Given the description of an element on the screen output the (x, y) to click on. 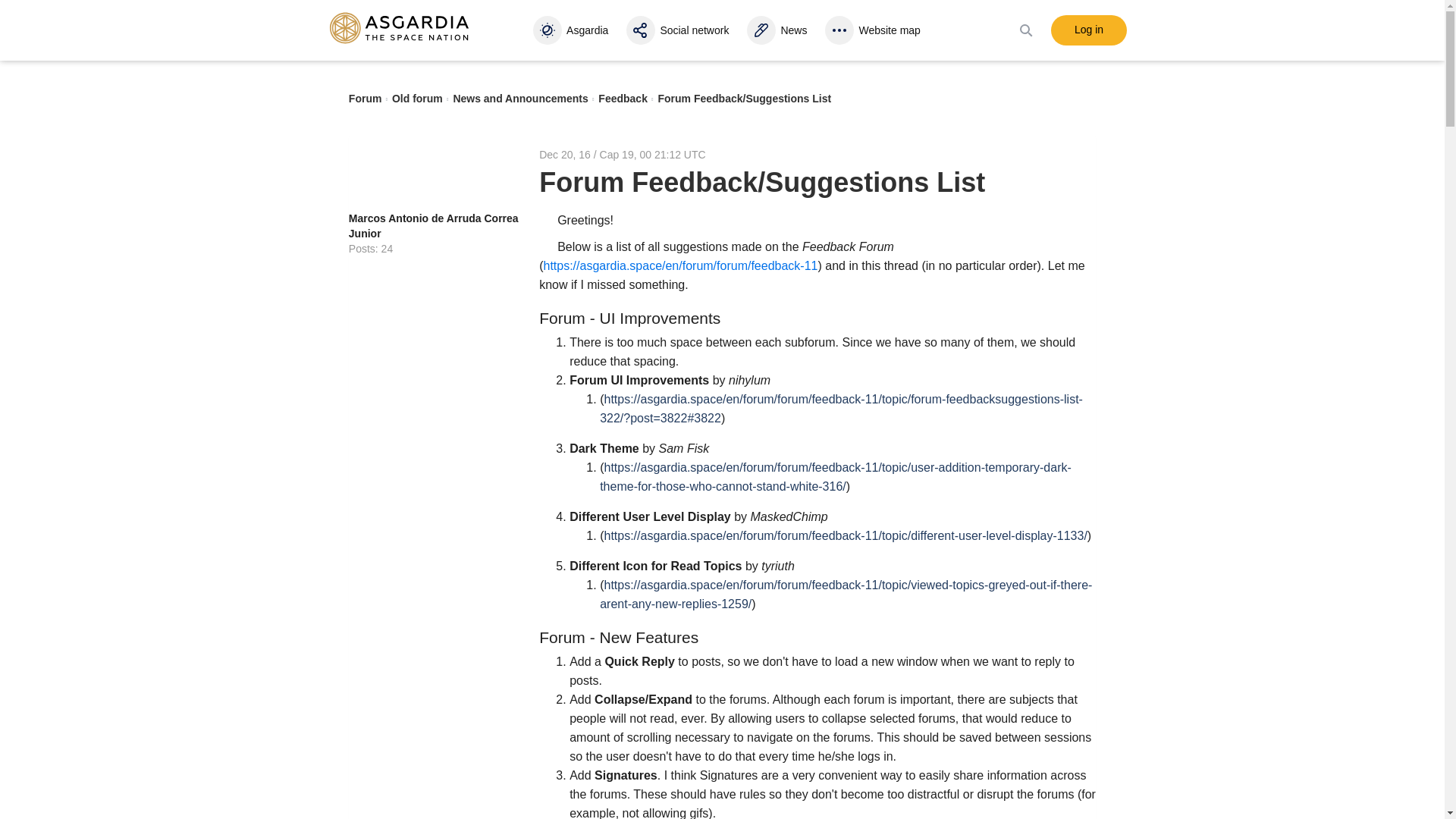
Asgardia (572, 30)
News (778, 30)
Log in (1088, 30)
Website map (874, 30)
Social (679, 30)
News (778, 30)
More (874, 30)
Social network (679, 30)
Asgardia (572, 30)
